Given the description of an element on the screen output the (x, y) to click on. 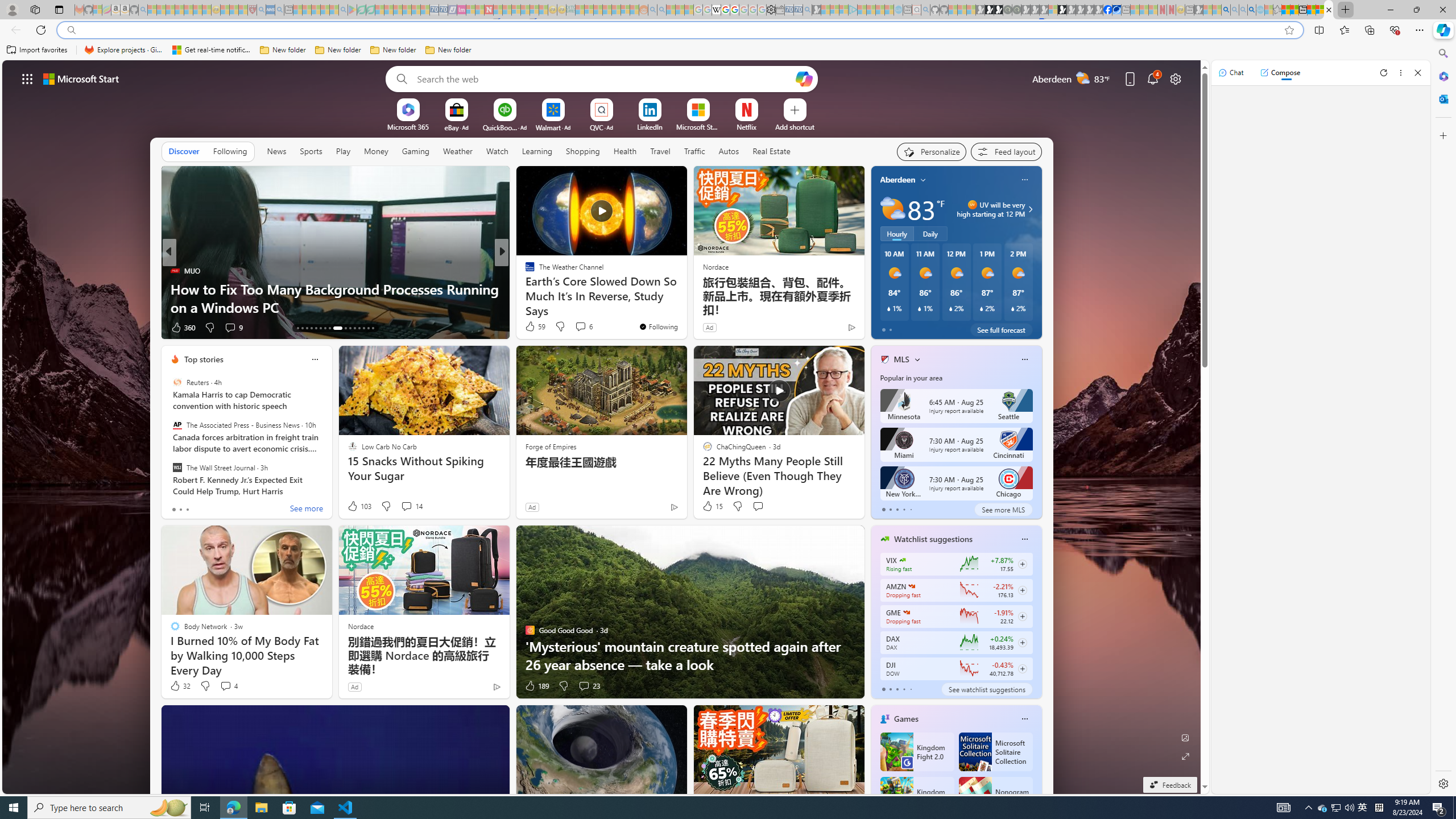
152 Like (532, 327)
MSNBC - MSN - Sleeping (579, 9)
AutomationID: tab-15 (306, 328)
See watchlist suggestions (986, 689)
See more MLS (1003, 509)
Jobs - lastminute.com Investor Portal - Sleeping (461, 9)
Partly sunny (892, 208)
Search icon (70, 29)
